Given the description of an element on the screen output the (x, y) to click on. 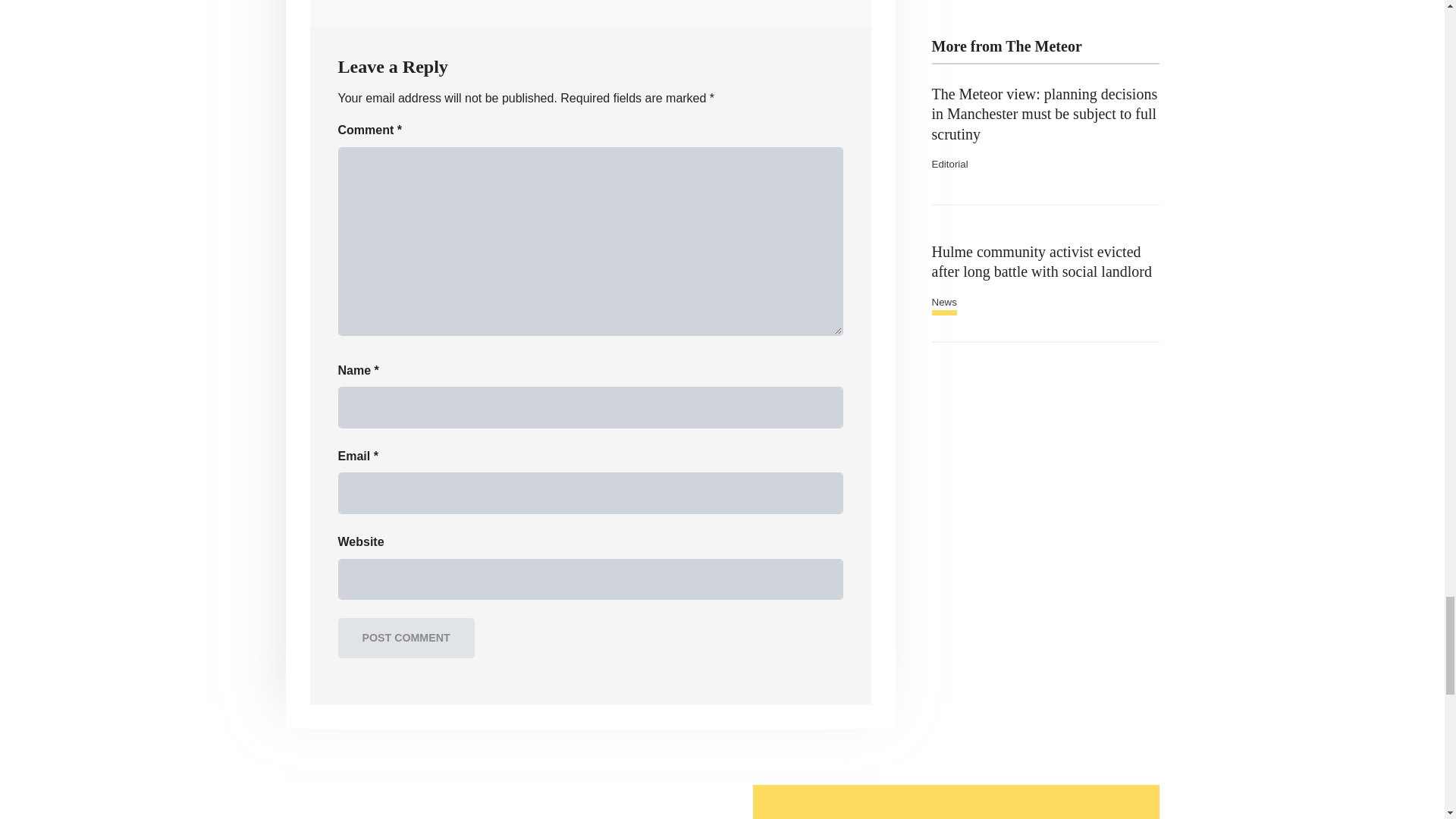
Post Comment (405, 638)
